Given the description of an element on the screen output the (x, y) to click on. 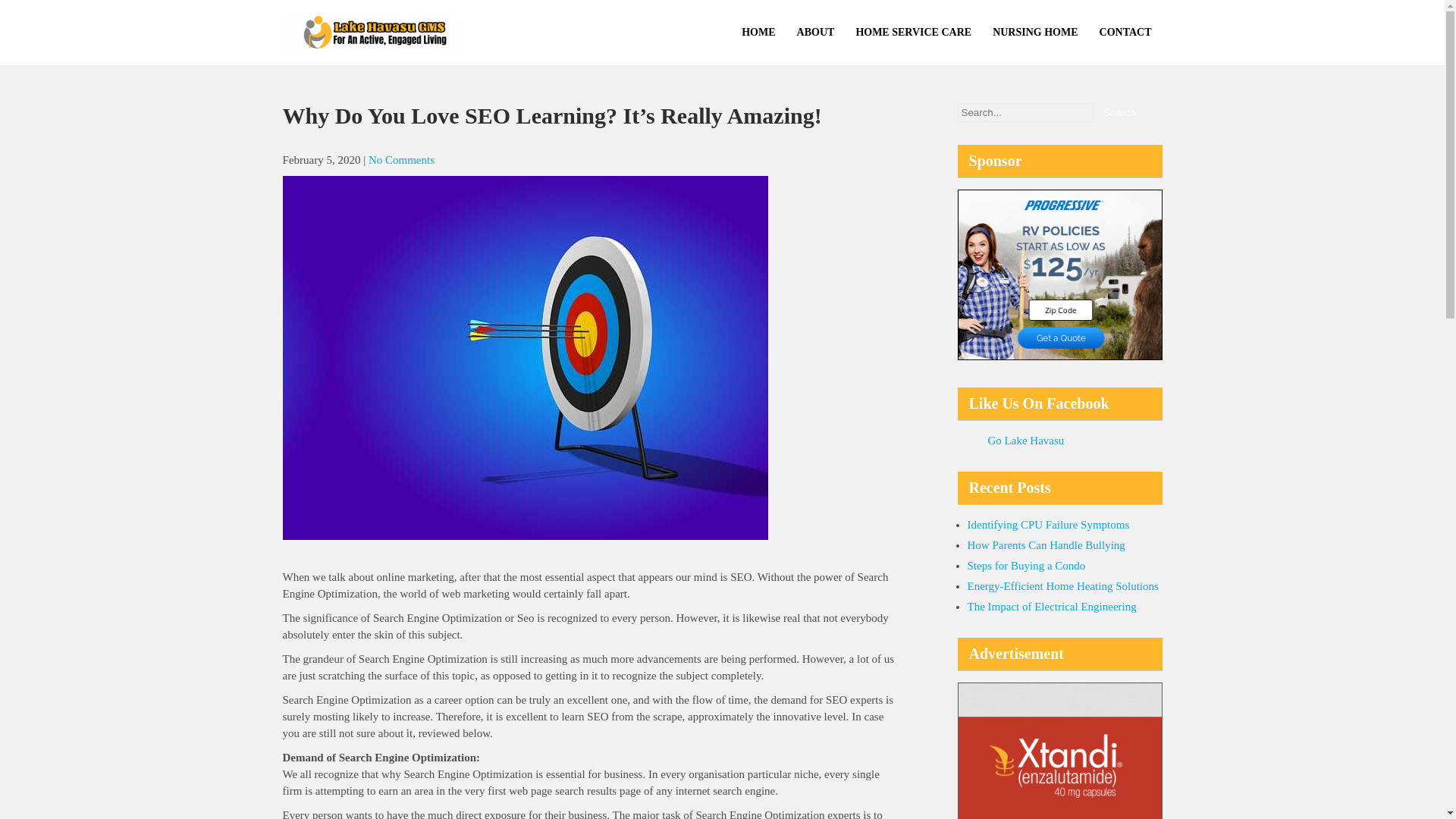
Identifying CPU Failure Symptoms (1048, 524)
NURSING HOME (1034, 32)
Search (1119, 112)
How Parents Can Handle Bullying (1046, 544)
HOME SERVICE CARE (912, 32)
ABOUT (815, 32)
Steps for Buying a Condo (1027, 565)
Energy-Efficient Home Heating Solutions (1063, 585)
The Impact of Electrical Engineering (1052, 606)
No Comments (400, 159)
